Given the description of an element on the screen output the (x, y) to click on. 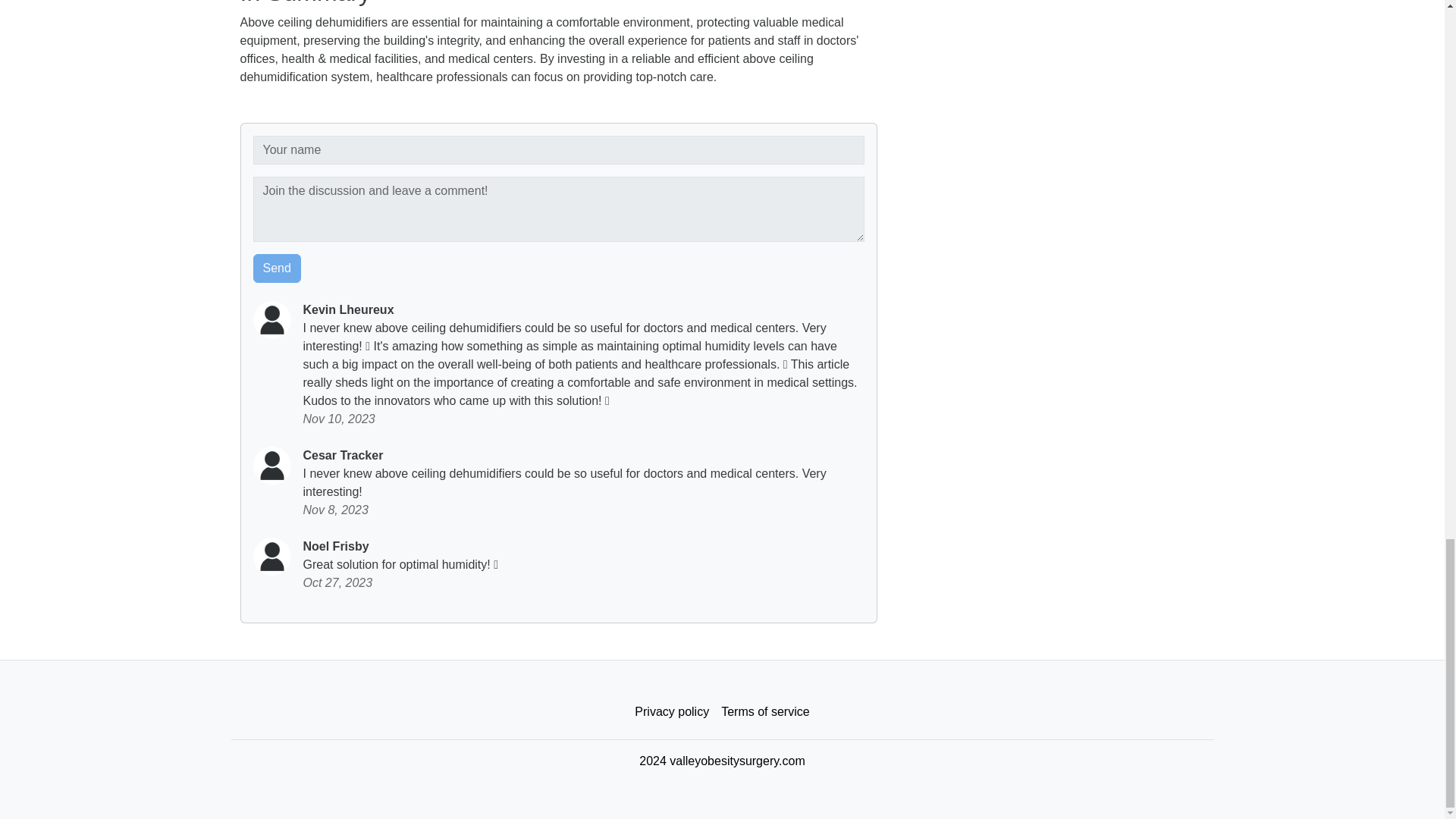
Send (277, 267)
Send (277, 267)
Privacy policy (671, 711)
Terms of service (764, 711)
